Given the description of an element on the screen output the (x, y) to click on. 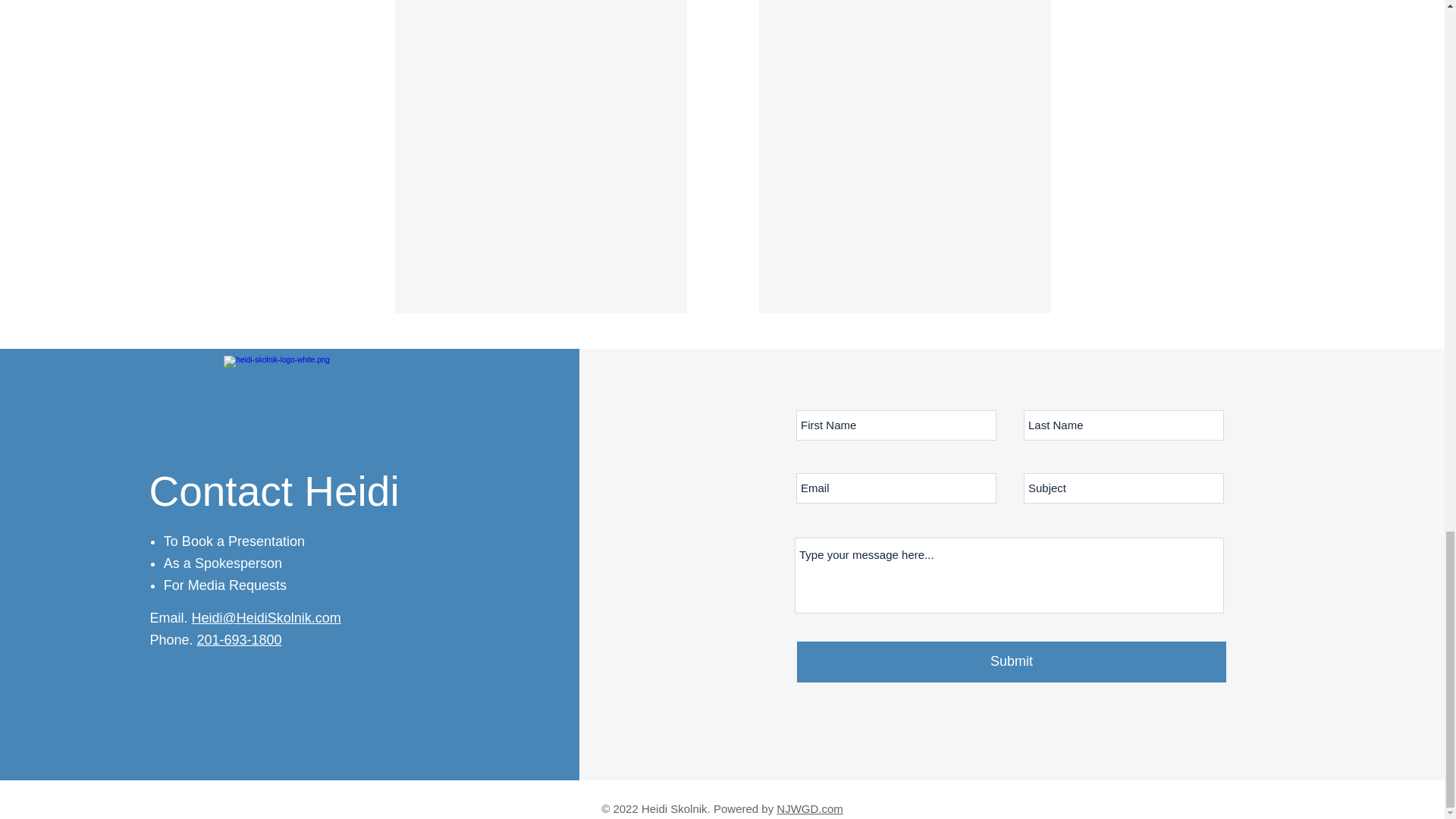
201-693-1800 (239, 639)
Submit (1010, 661)
NJWGD.com (809, 808)
